Given the description of an element on the screen output the (x, y) to click on. 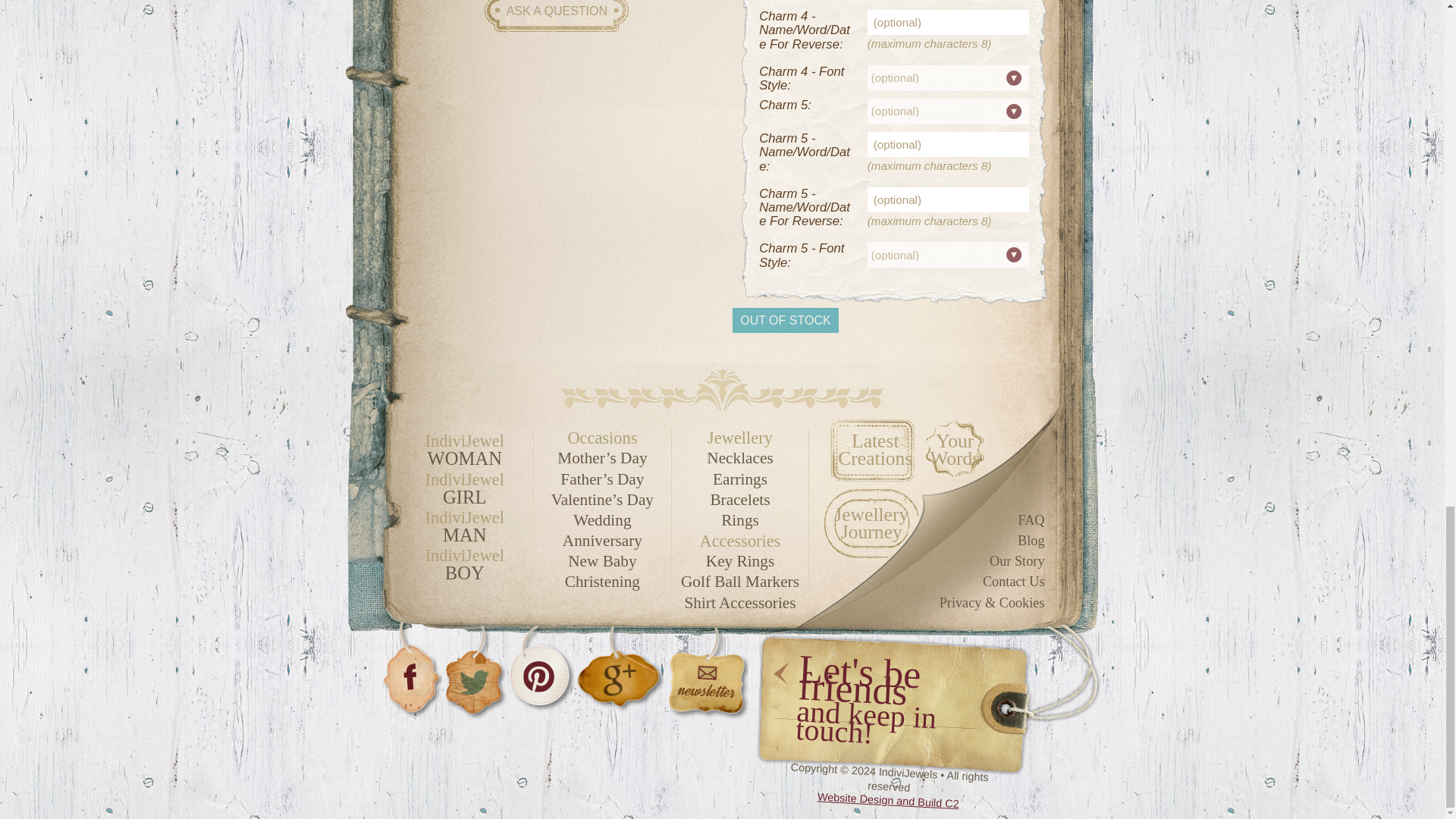
GIRL (464, 497)
Anniversary (602, 540)
Christening (602, 581)
New Baby (602, 561)
ASK A QUESTION (556, 18)
Follow us on Google Plus (619, 670)
WOMAN (464, 457)
Wedding (602, 520)
BOY (464, 572)
MAN (464, 534)
